Given the description of an element on the screen output the (x, y) to click on. 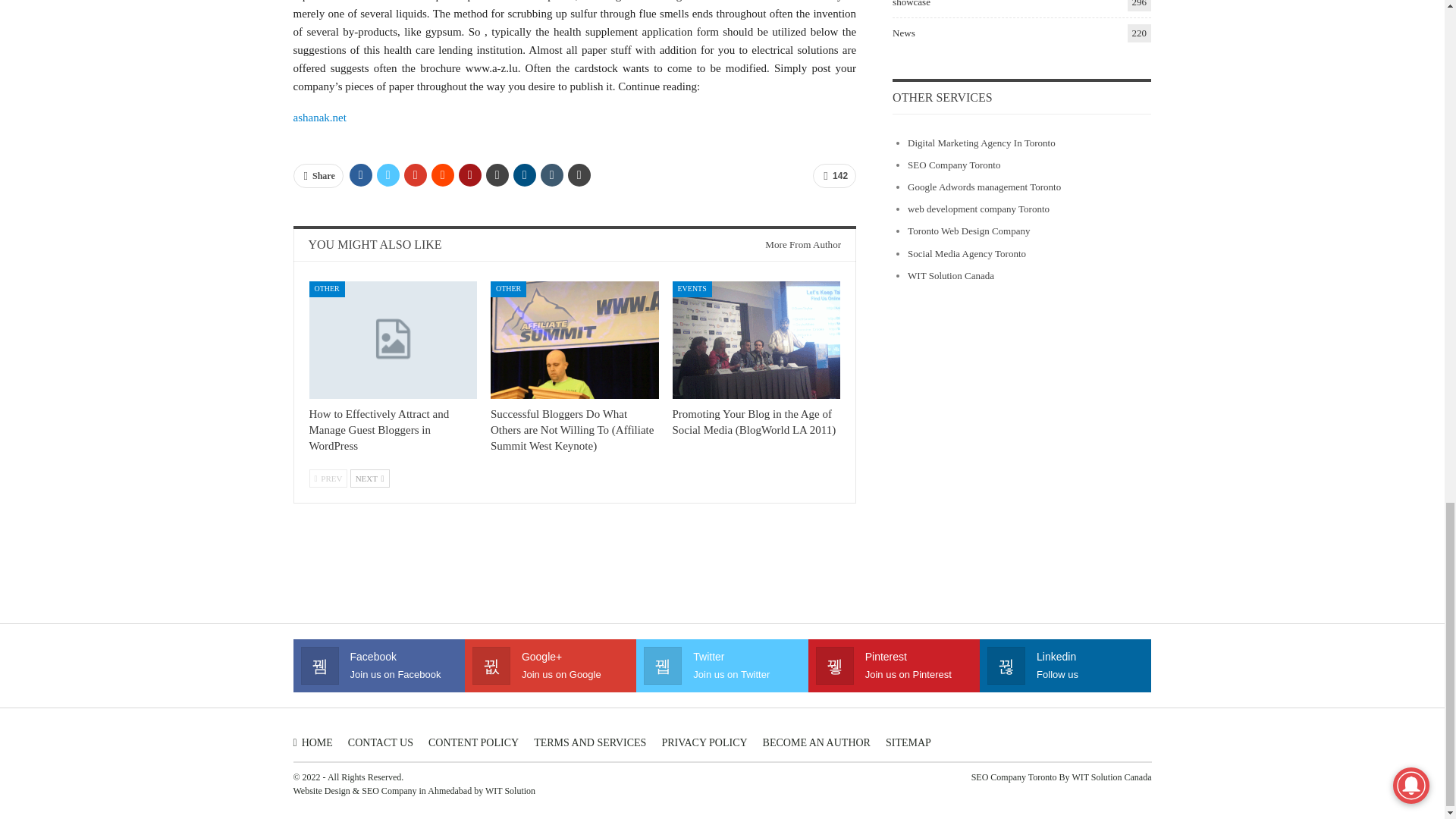
Next (370, 478)
Previous (327, 478)
